Given the description of an element on the screen output the (x, y) to click on. 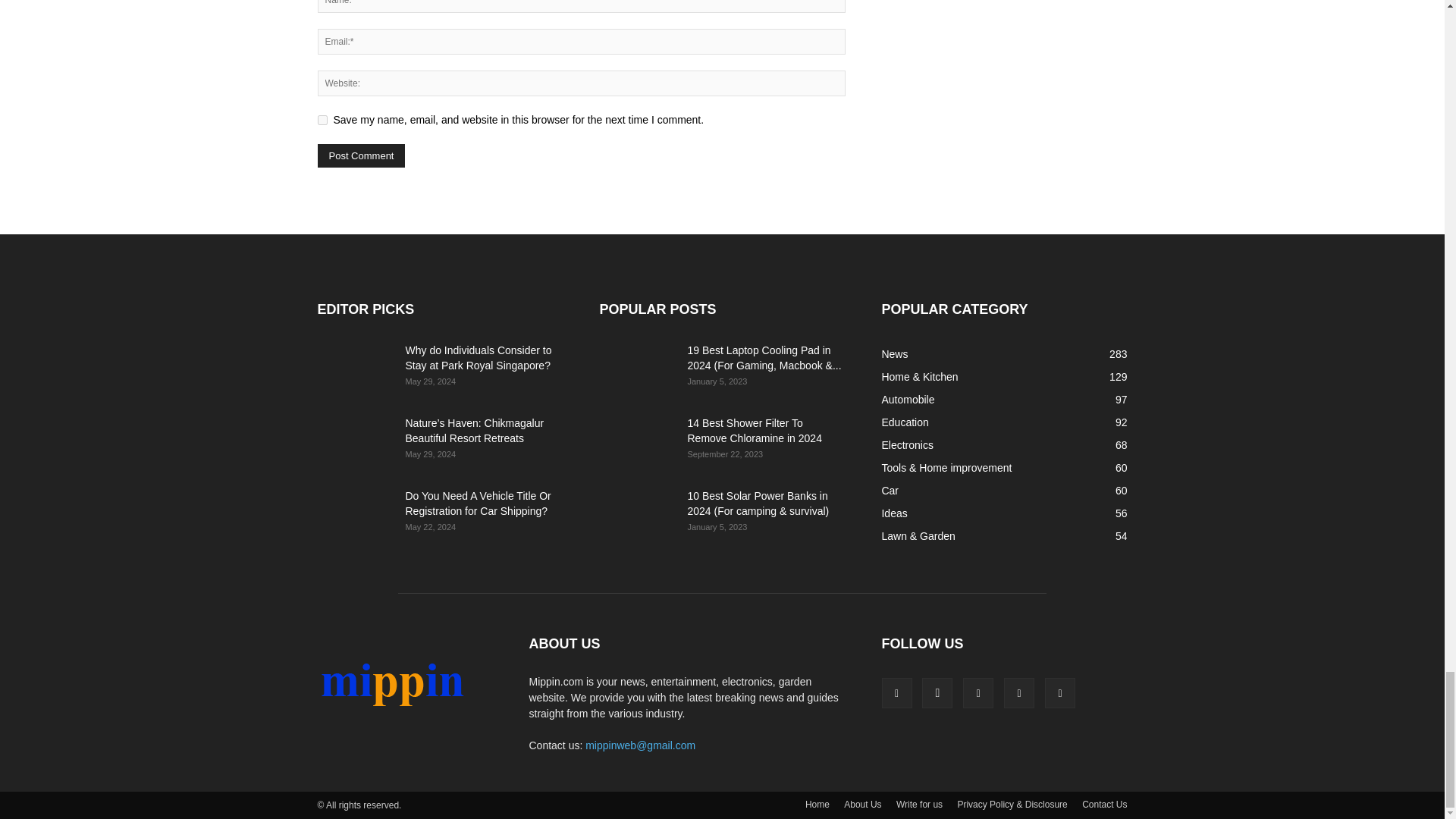
Post Comment (360, 155)
yes (321, 120)
